Given the description of an element on the screen output the (x, y) to click on. 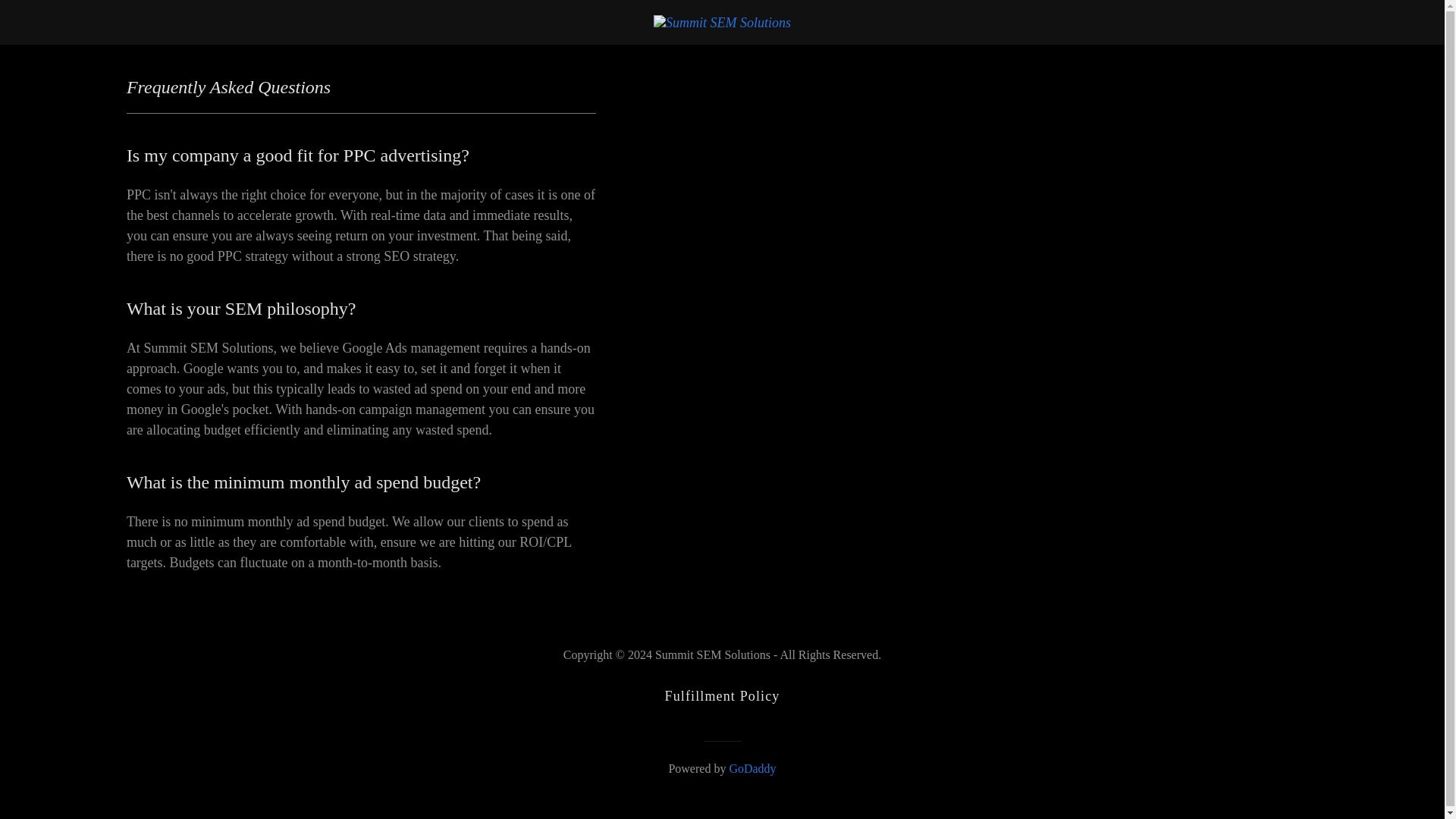
GoDaddy (752, 768)
Summit SEM Solutions (721, 20)
Fulfillment Policy (722, 696)
